Given the description of an element on the screen output the (x, y) to click on. 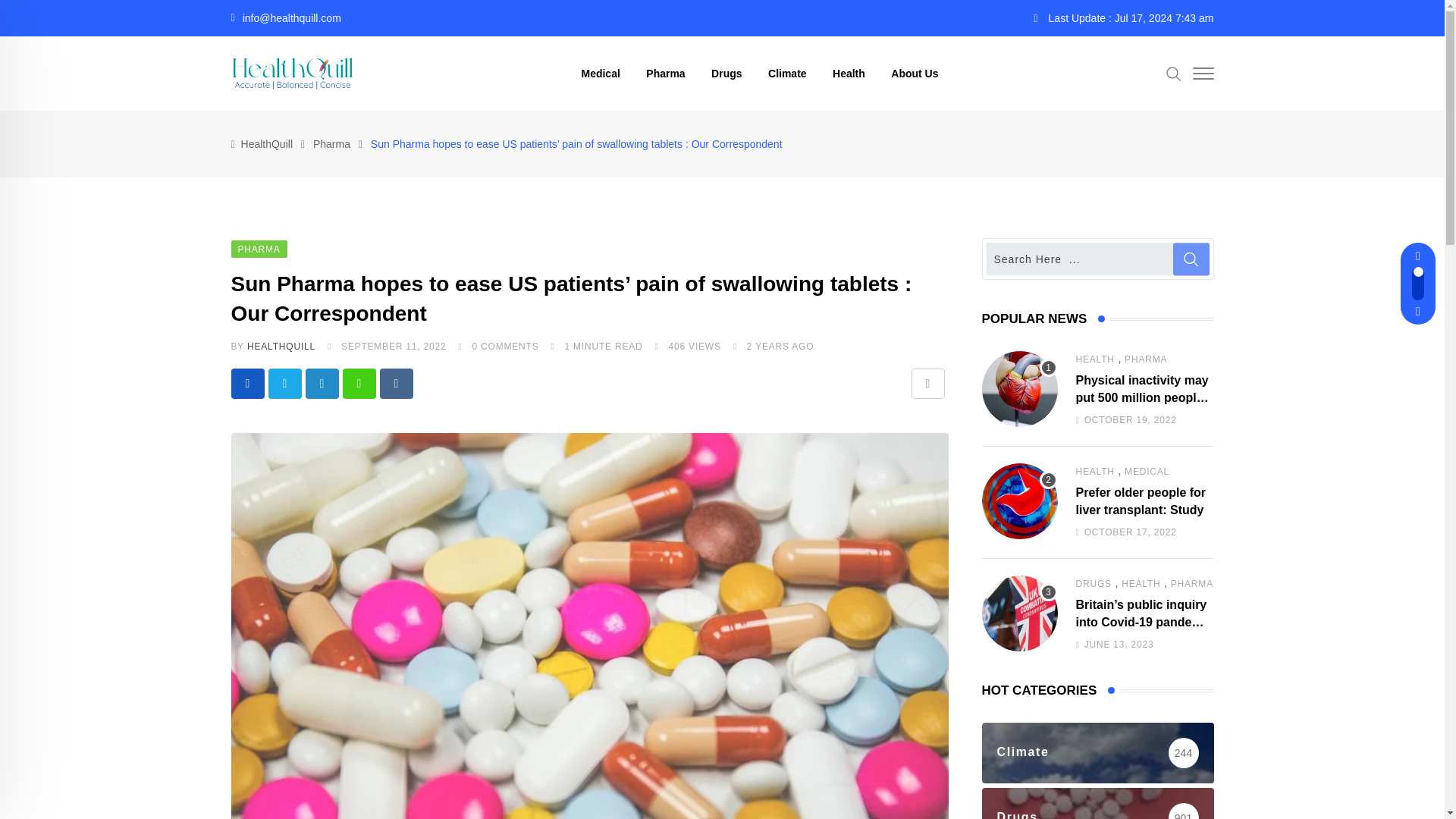
Posts by HealthQuill (281, 346)
PHARMA (258, 247)
Pharma (331, 143)
Go to the Pharma category archives. (331, 143)
Prefer older people for liver transplant: Study (1019, 500)
Share via Email (927, 383)
Whatsapp (358, 383)
Search (1173, 72)
HEALTHQUILL (281, 346)
Go to HealthQuill. (266, 143)
HealthQuill (266, 143)
Reddit (395, 383)
LinkedIn (320, 383)
About Us (914, 73)
